Given the description of an element on the screen output the (x, y) to click on. 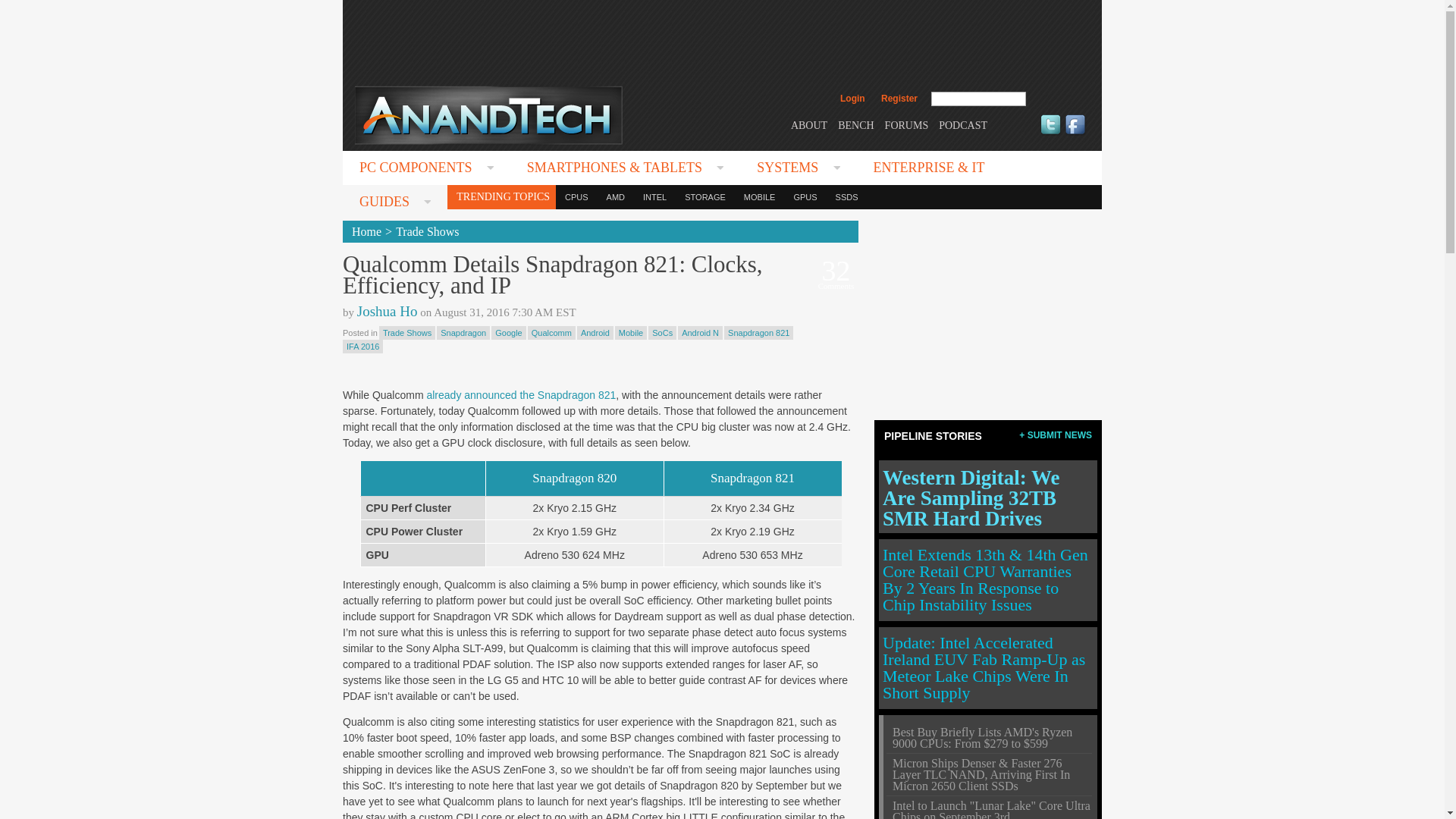
FORUMS (906, 125)
BENCH (855, 125)
search (1059, 98)
search (1059, 98)
Login (852, 98)
Register (898, 98)
PODCAST (963, 125)
ABOUT (808, 125)
search (1059, 98)
